Given the description of an element on the screen output the (x, y) to click on. 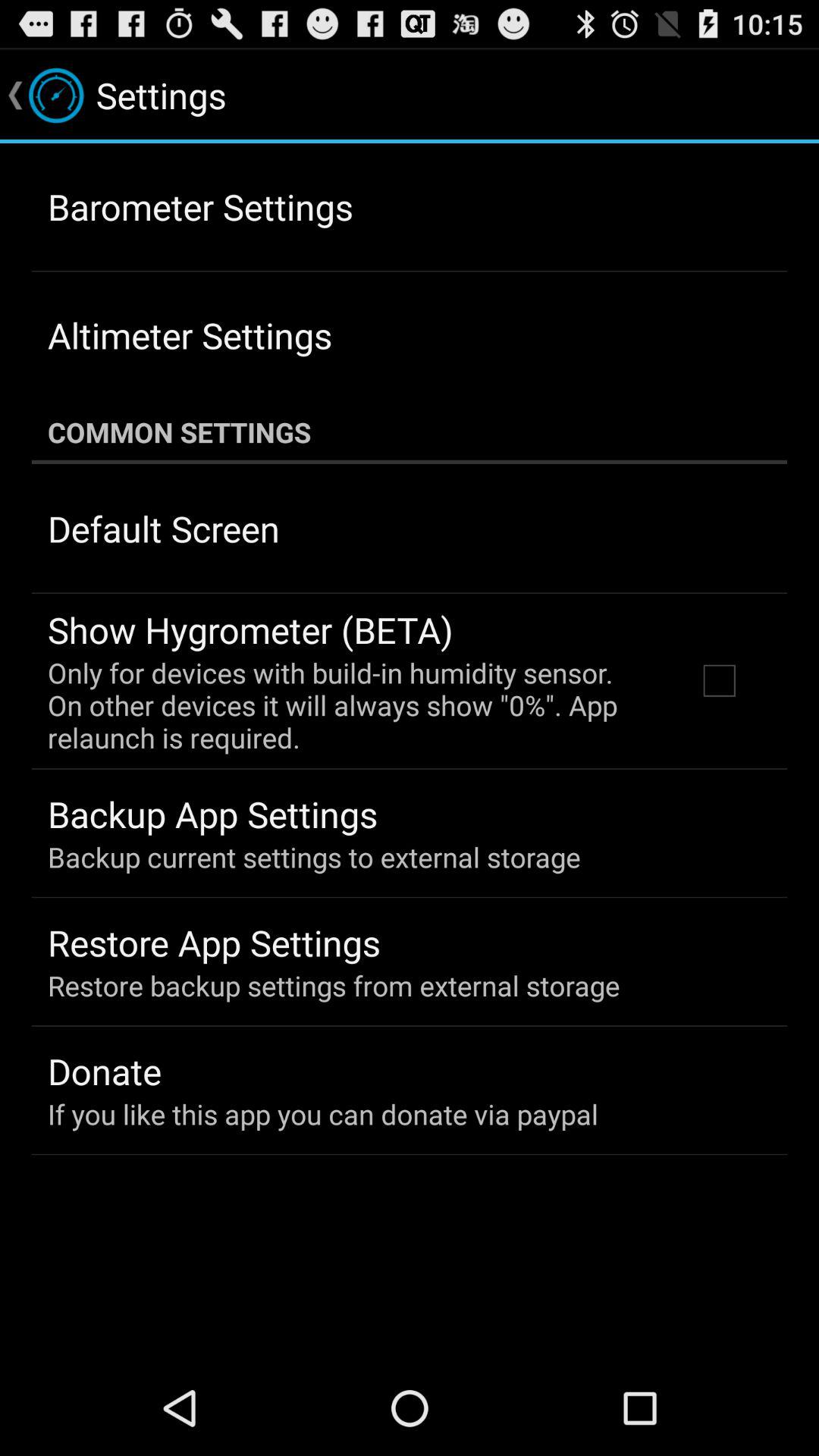
select item to the right of the only for devices app (719, 680)
